Given the description of an element on the screen output the (x, y) to click on. 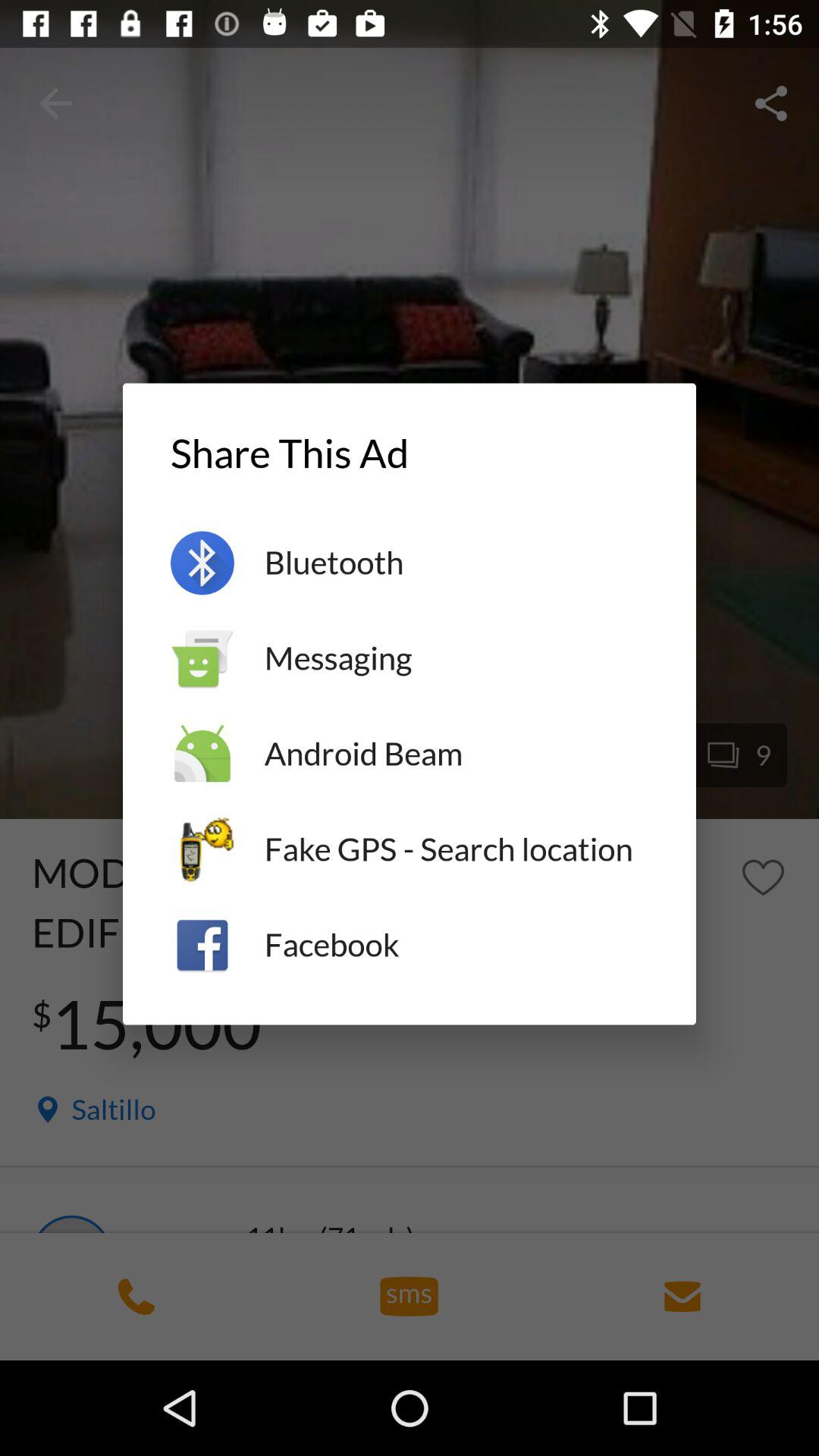
select the android beam (456, 753)
